Given the description of an element on the screen output the (x, y) to click on. 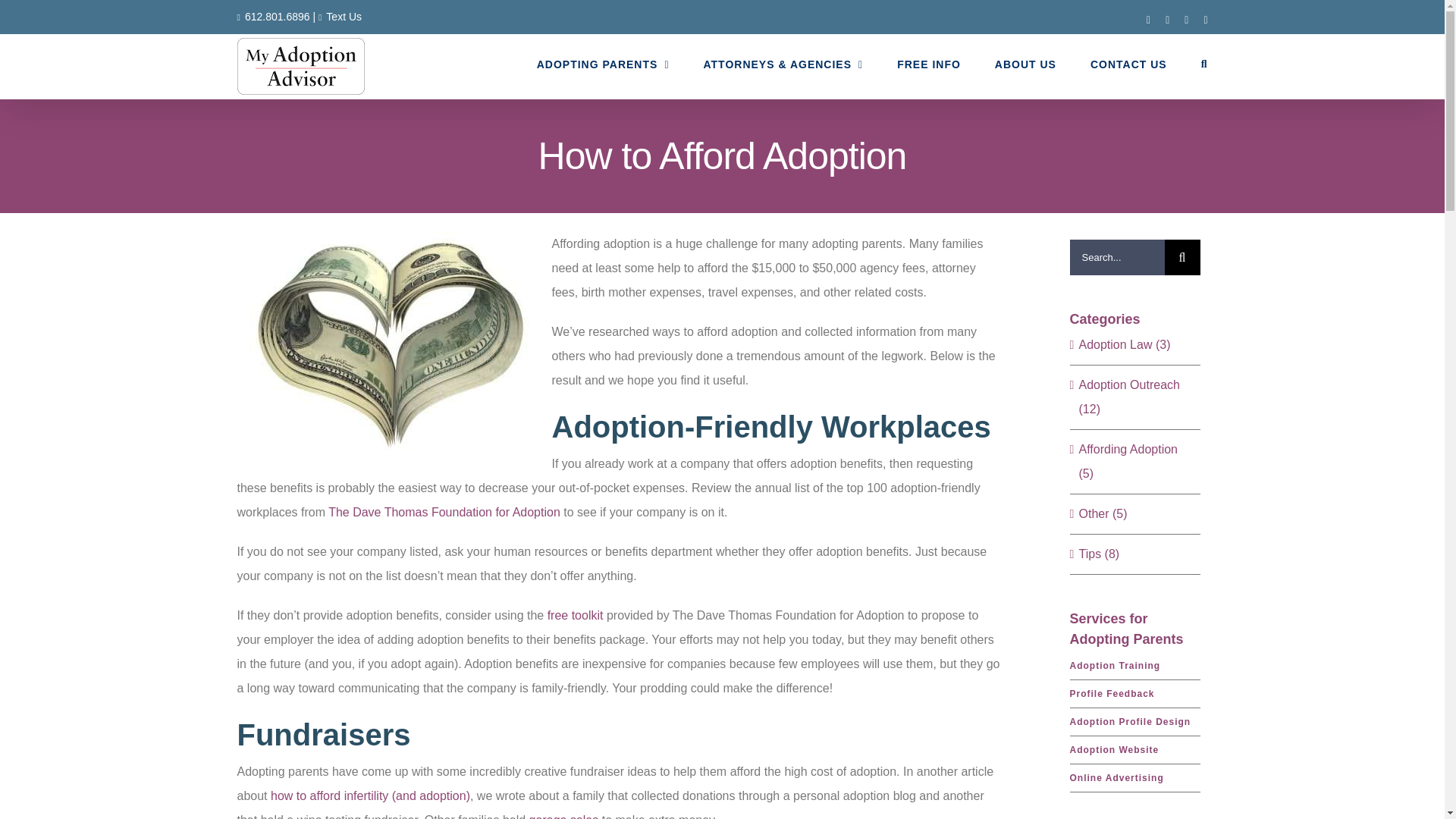
CONTACT US (1128, 64)
Text Us (343, 16)
Search (1204, 64)
ABOUT US (1025, 64)
ADOPTING PARENTS (603, 64)
612.801.6896 (277, 16)
FREE INFO (928, 64)
